Given the description of an element on the screen output the (x, y) to click on. 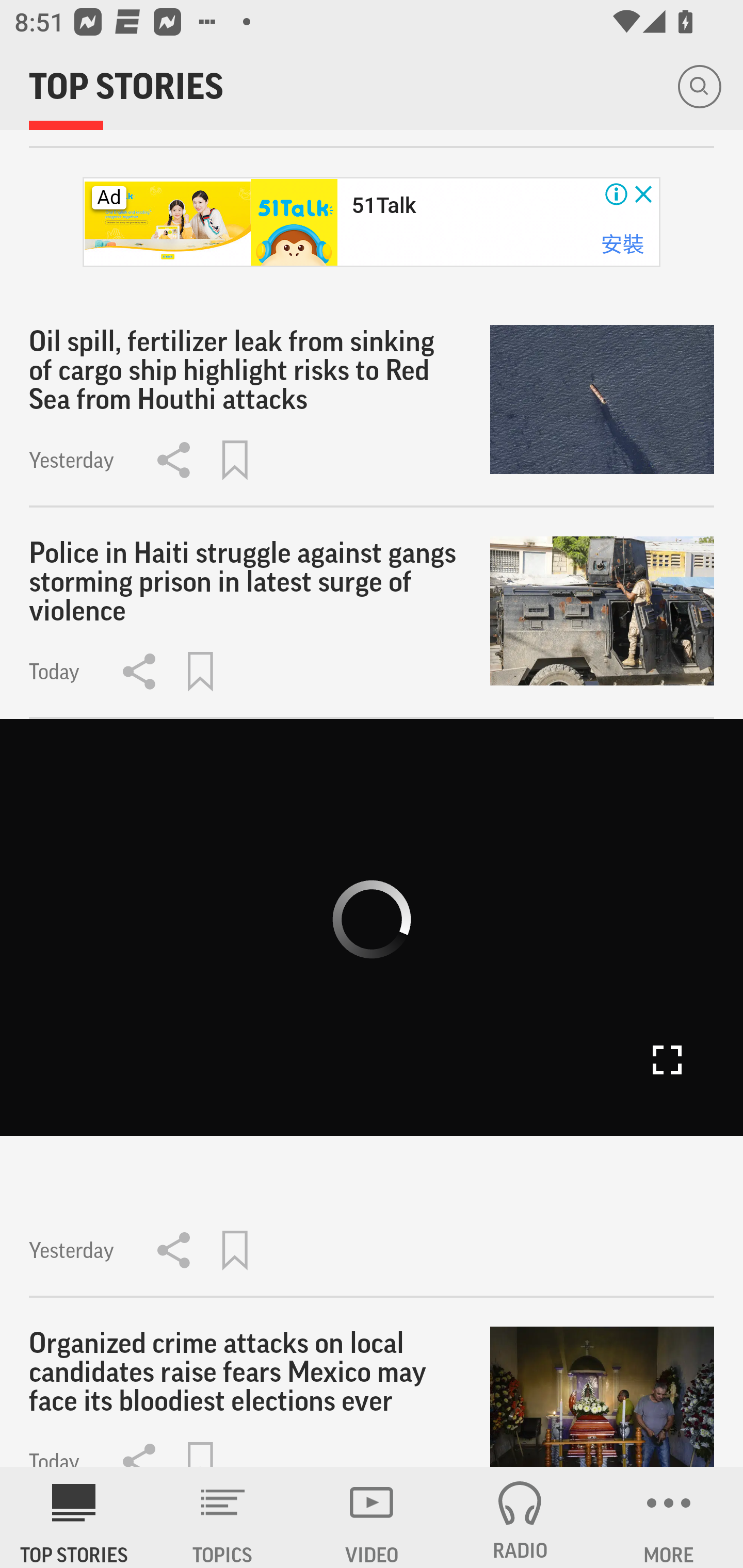
51Talk (382, 205)
安裝 (621, 243)
toggle controls Fullscreen Yesterday (371, 1008)
Fullscreen (666, 1059)
AP News TOP STORIES (74, 1517)
TOPICS (222, 1517)
VIDEO (371, 1517)
RADIO (519, 1517)
MORE (668, 1517)
